Given the description of an element on the screen output the (x, y) to click on. 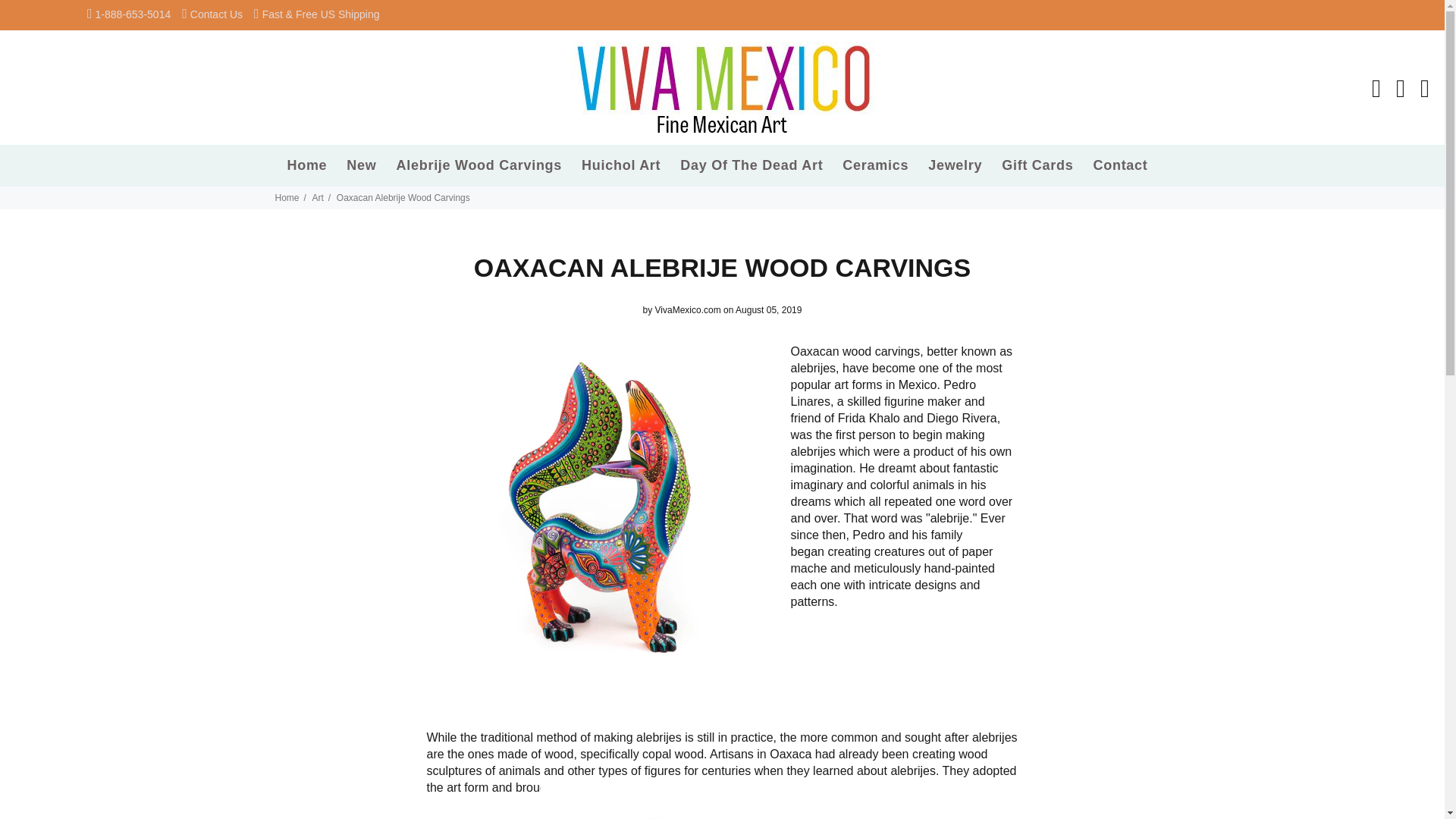
Contact Us (216, 14)
